Given the description of an element on the screen output the (x, y) to click on. 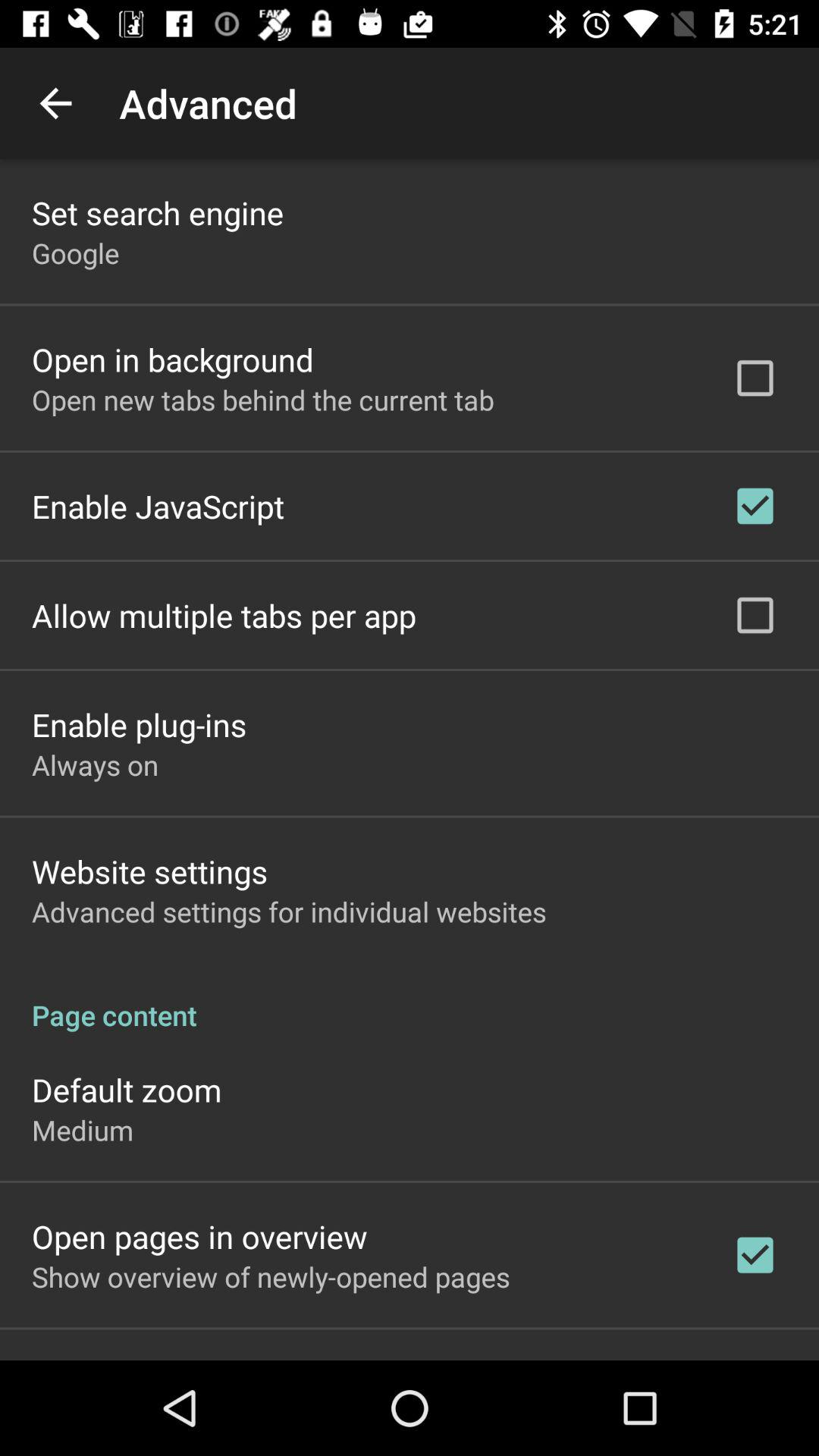
turn off icon next to the advanced icon (55, 103)
